Given the description of an element on the screen output the (x, y) to click on. 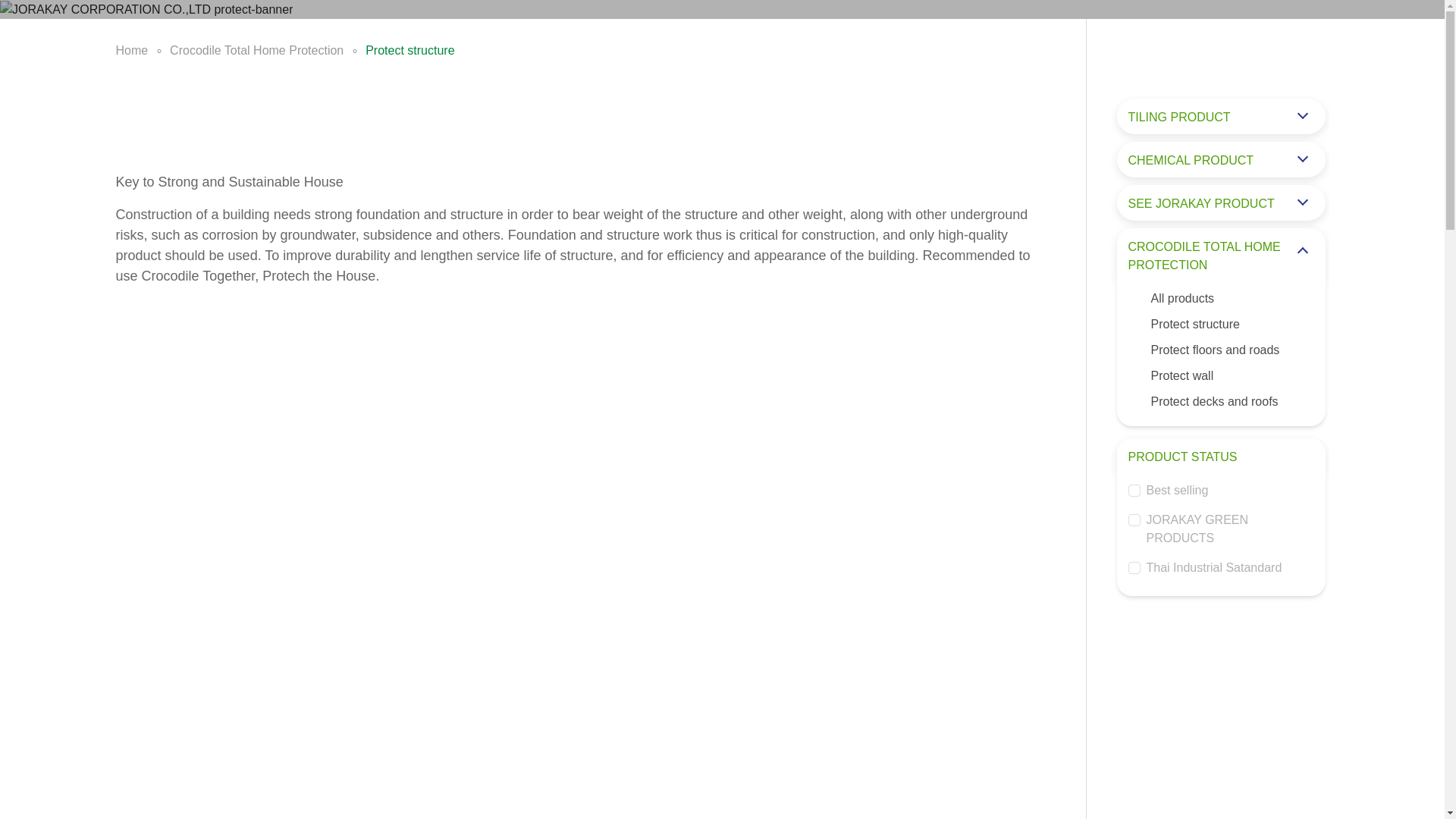
green-products (1134, 520)
best-sellers (1134, 490)
standard (1134, 567)
